Given the description of an element on the screen output the (x, y) to click on. 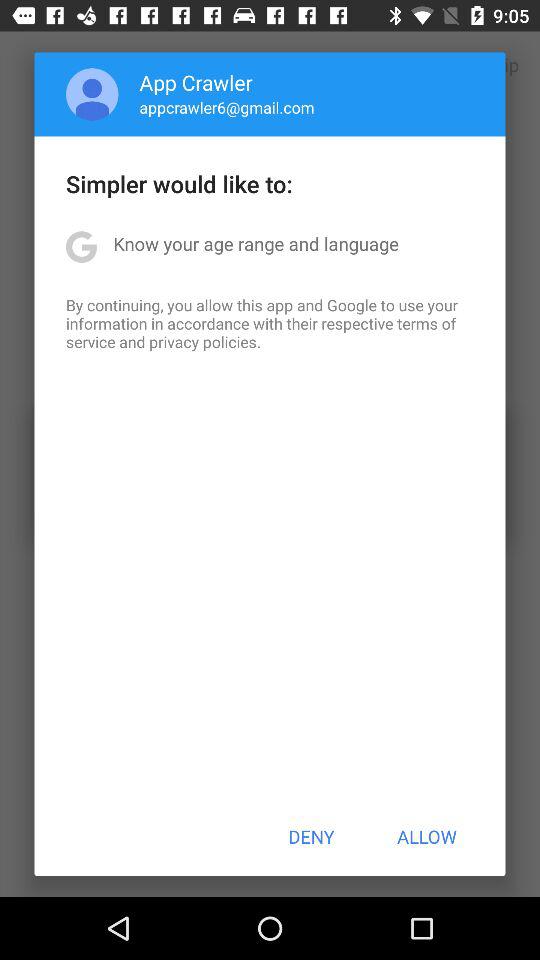
tap app below the simpler would like icon (255, 243)
